Given the description of an element on the screen output the (x, y) to click on. 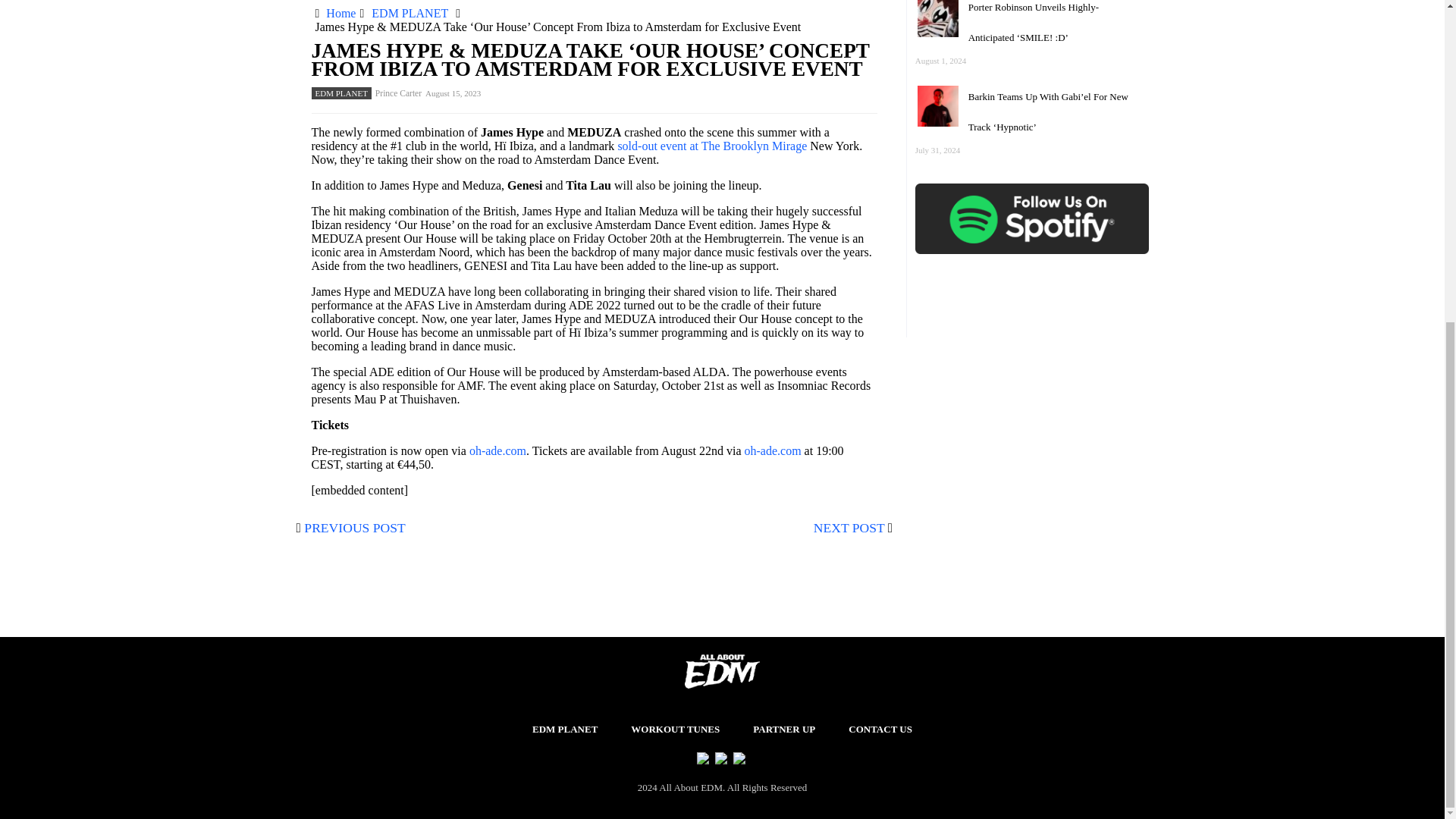
PREVIOUS POST (354, 527)
EDM PLANET (341, 92)
EDM PLANET (564, 729)
sold-out event at The Brooklyn Mirage (711, 145)
oh-ade.com (773, 450)
Prince Carter (398, 92)
NEXT POST (849, 527)
oh-ade.com (496, 450)
EDM PLANET (409, 12)
Home (340, 12)
PARTNER UP (783, 729)
WORKOUT TUNES (675, 729)
CONTACT US (879, 729)
